Given the description of an element on the screen output the (x, y) to click on. 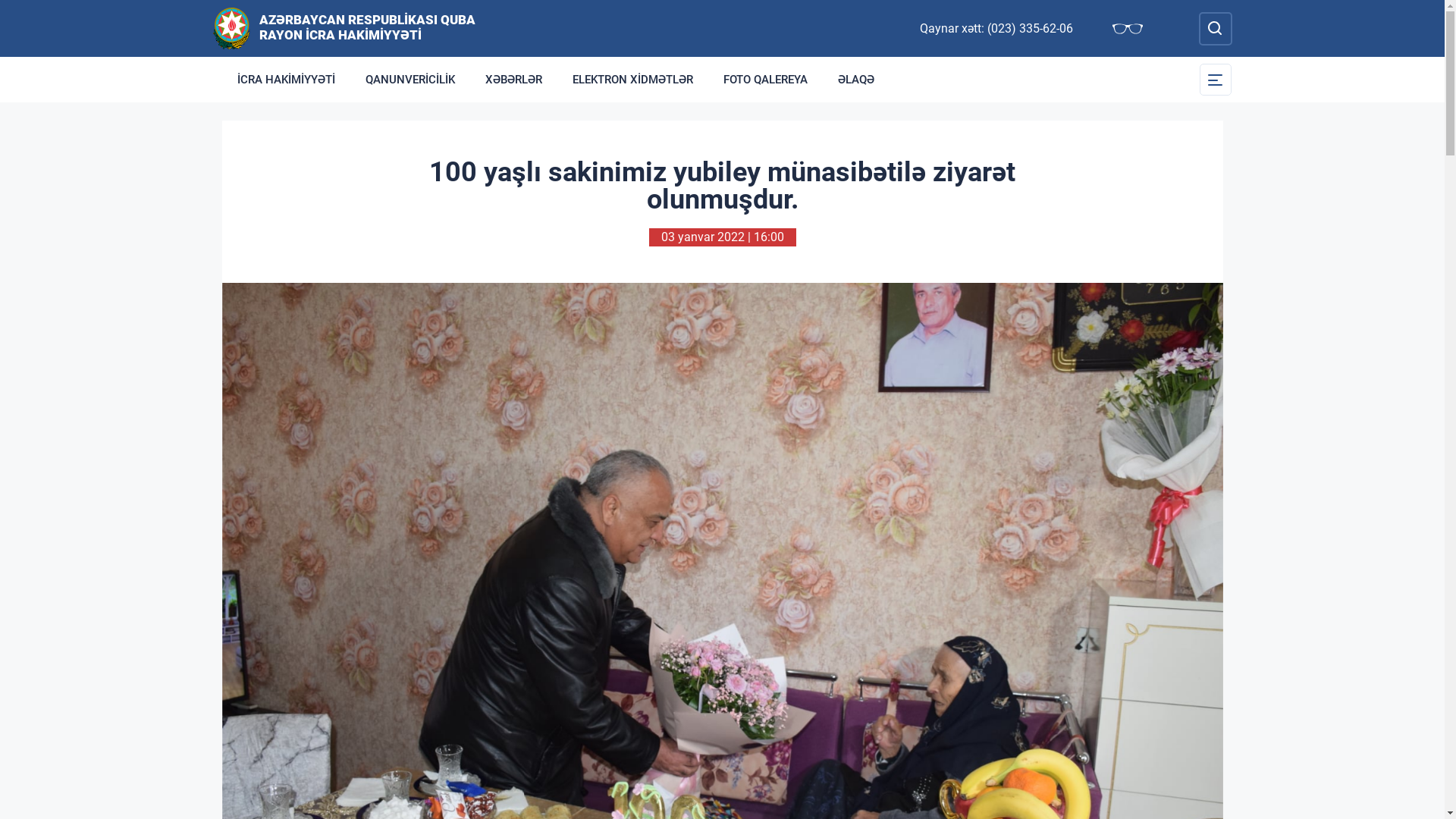
FOTO QALEREYA Element type: text (765, 79)
QANUNVERICILIK Element type: text (410, 79)
